Given the description of an element on the screen output the (x, y) to click on. 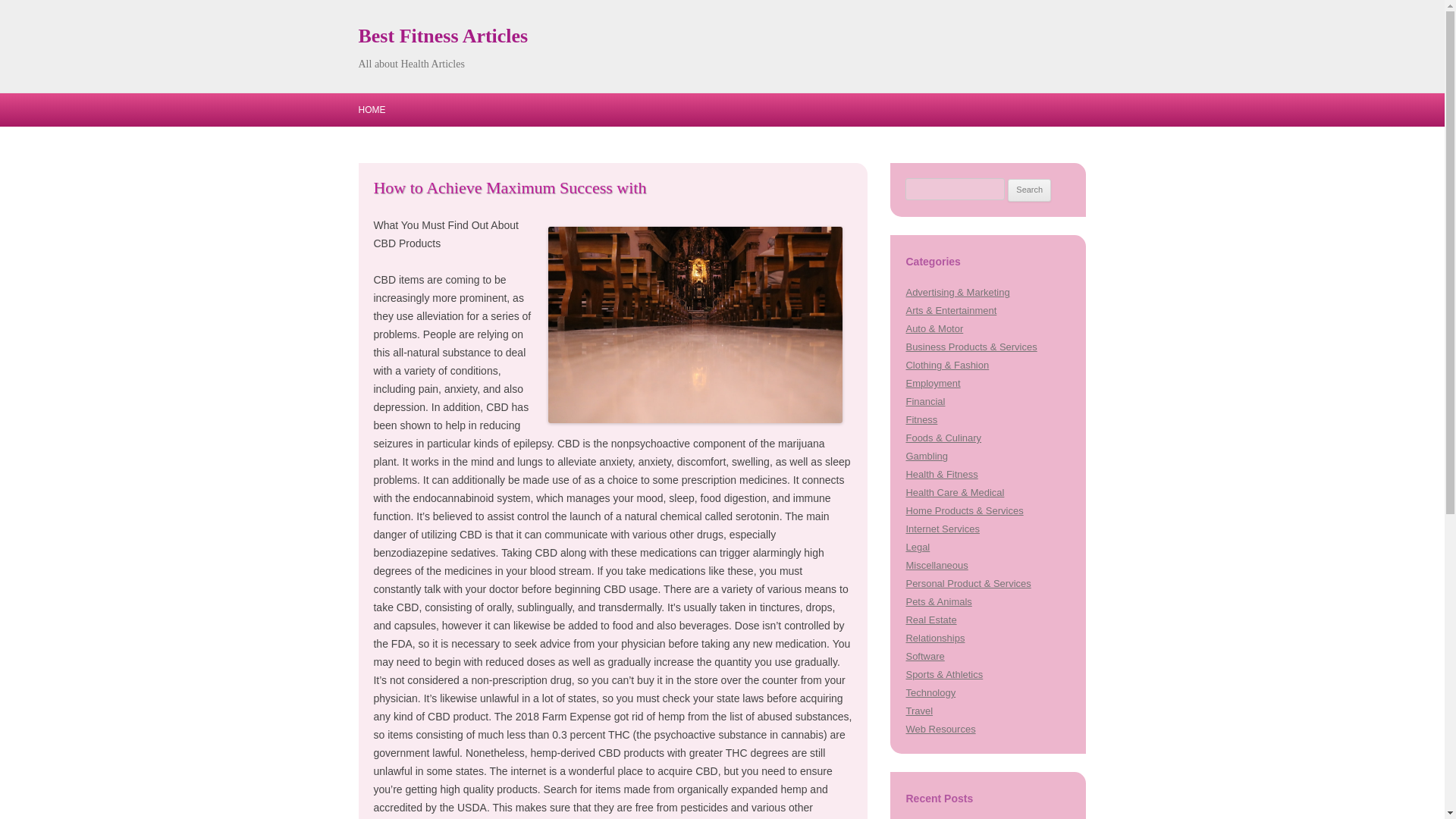
Search (1029, 190)
Best Fitness Articles (442, 36)
Employment (932, 383)
Travel (919, 710)
Gambling (926, 455)
Best Fitness Articles (442, 36)
Financial (924, 401)
Search (1029, 190)
Legal (917, 546)
Relationships (934, 637)
Miscellaneous (936, 564)
Fitness (921, 419)
Web Resources (940, 728)
